Given the description of an element on the screen output the (x, y) to click on. 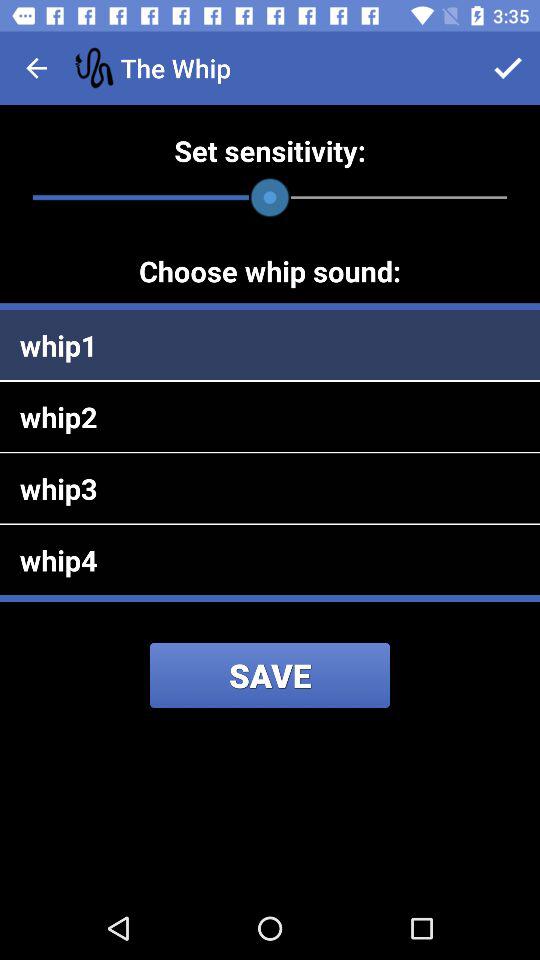
click the icon above set sensitivity: (36, 68)
